Given the description of an element on the screen output the (x, y) to click on. 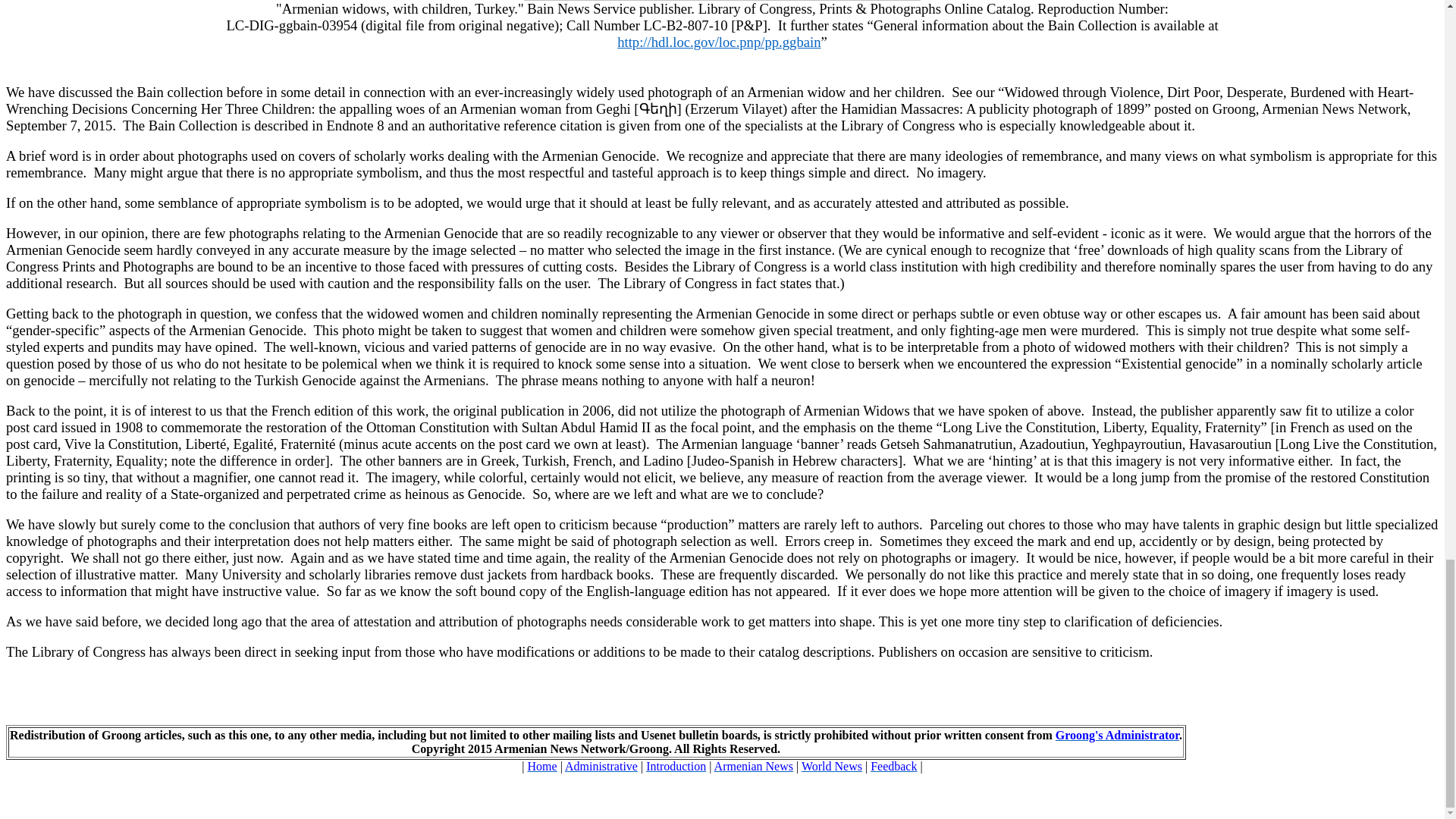
Introduction (676, 766)
Administrative (600, 766)
Groong's Administrator (1117, 735)
Home (542, 766)
Feedback (893, 766)
Armenian News (753, 766)
World News (831, 766)
